Given the description of an element on the screen output the (x, y) to click on. 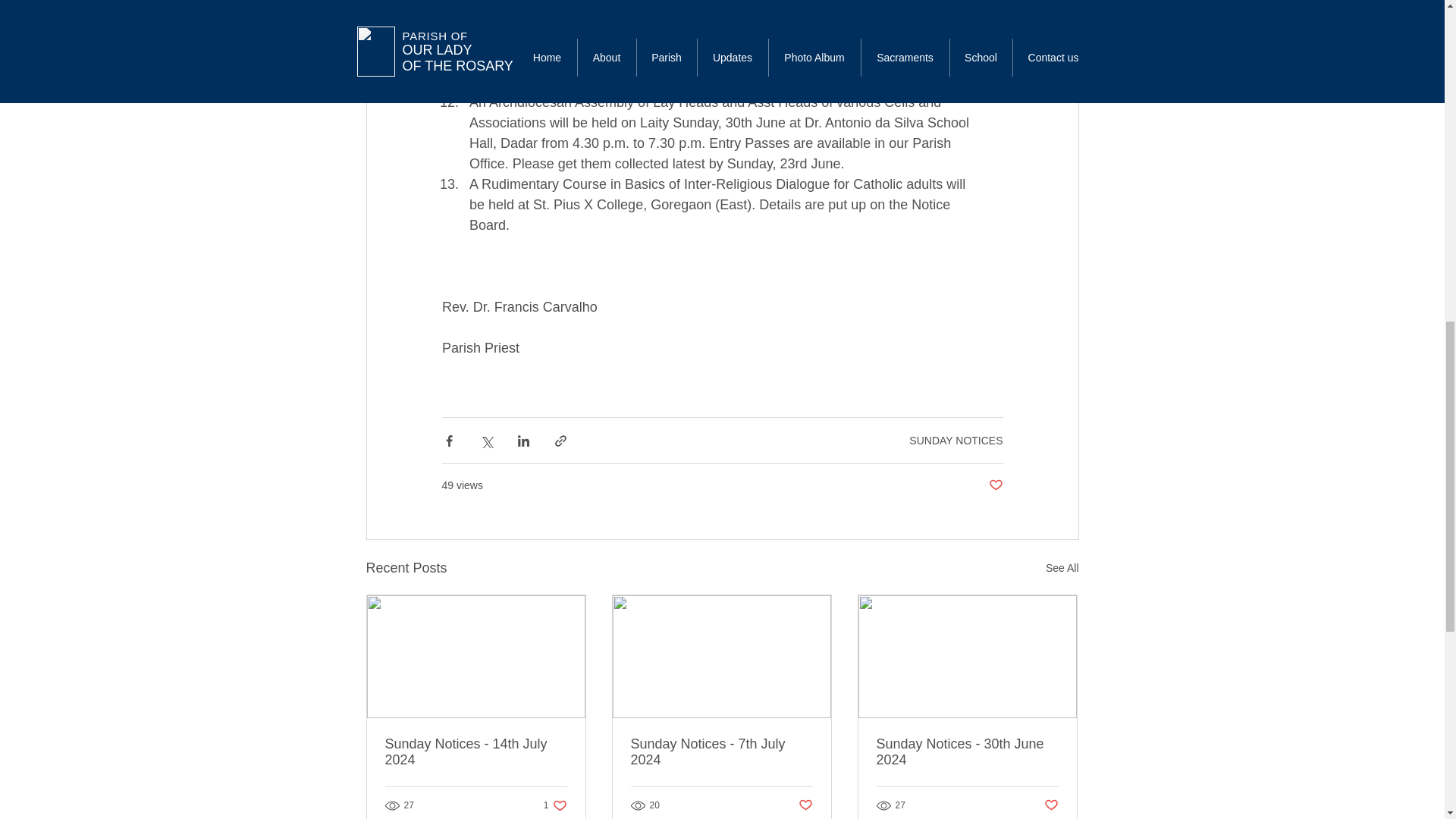
Post not marked as liked (555, 804)
See All (995, 485)
SUNDAY NOTICES (1061, 568)
Sunday Notices - 14th July 2024 (955, 439)
